Given the description of an element on the screen output the (x, y) to click on. 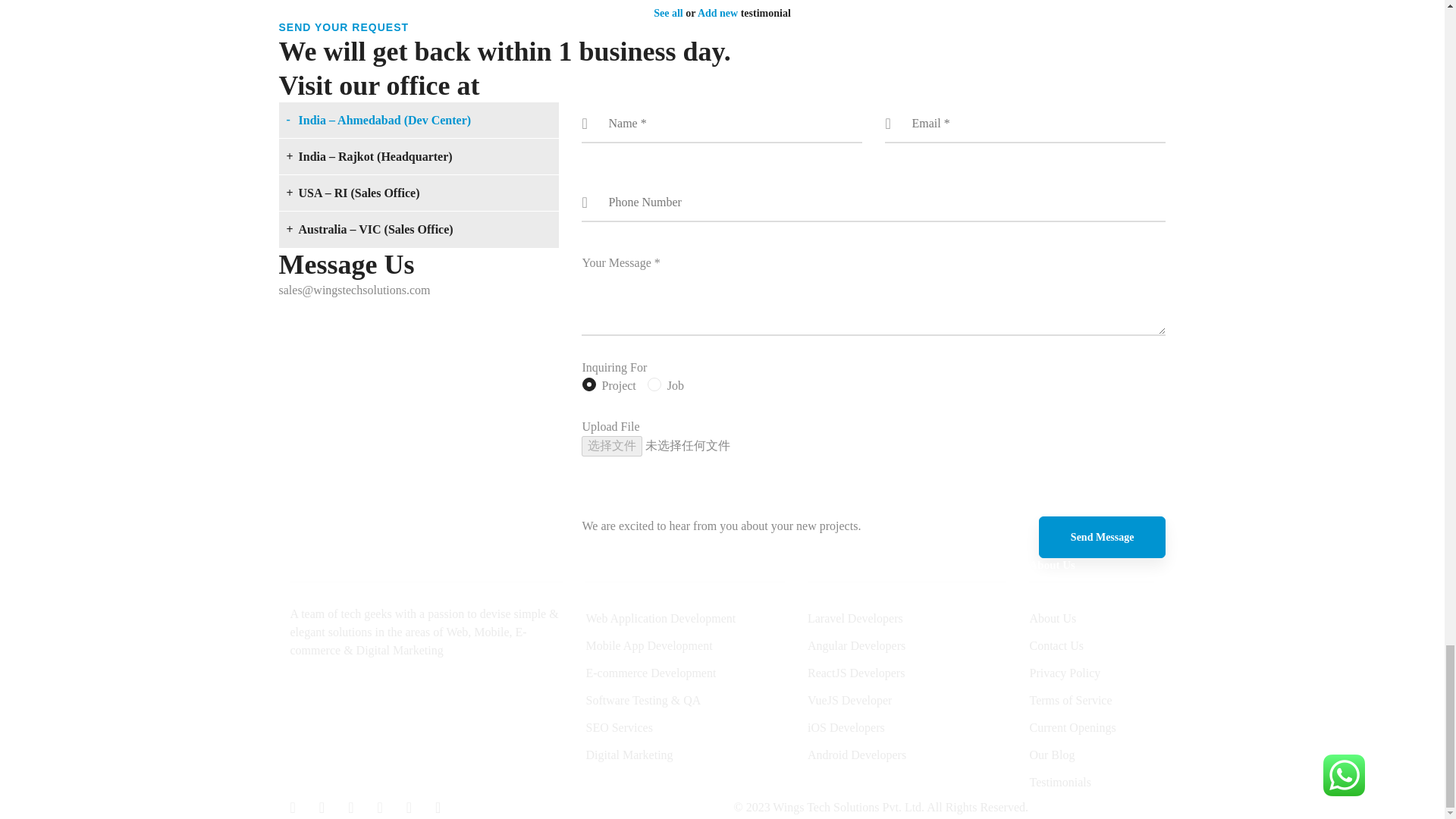
Send Message (1102, 536)
Job (654, 384)
Project (588, 384)
